Given the description of an element on the screen output the (x, y) to click on. 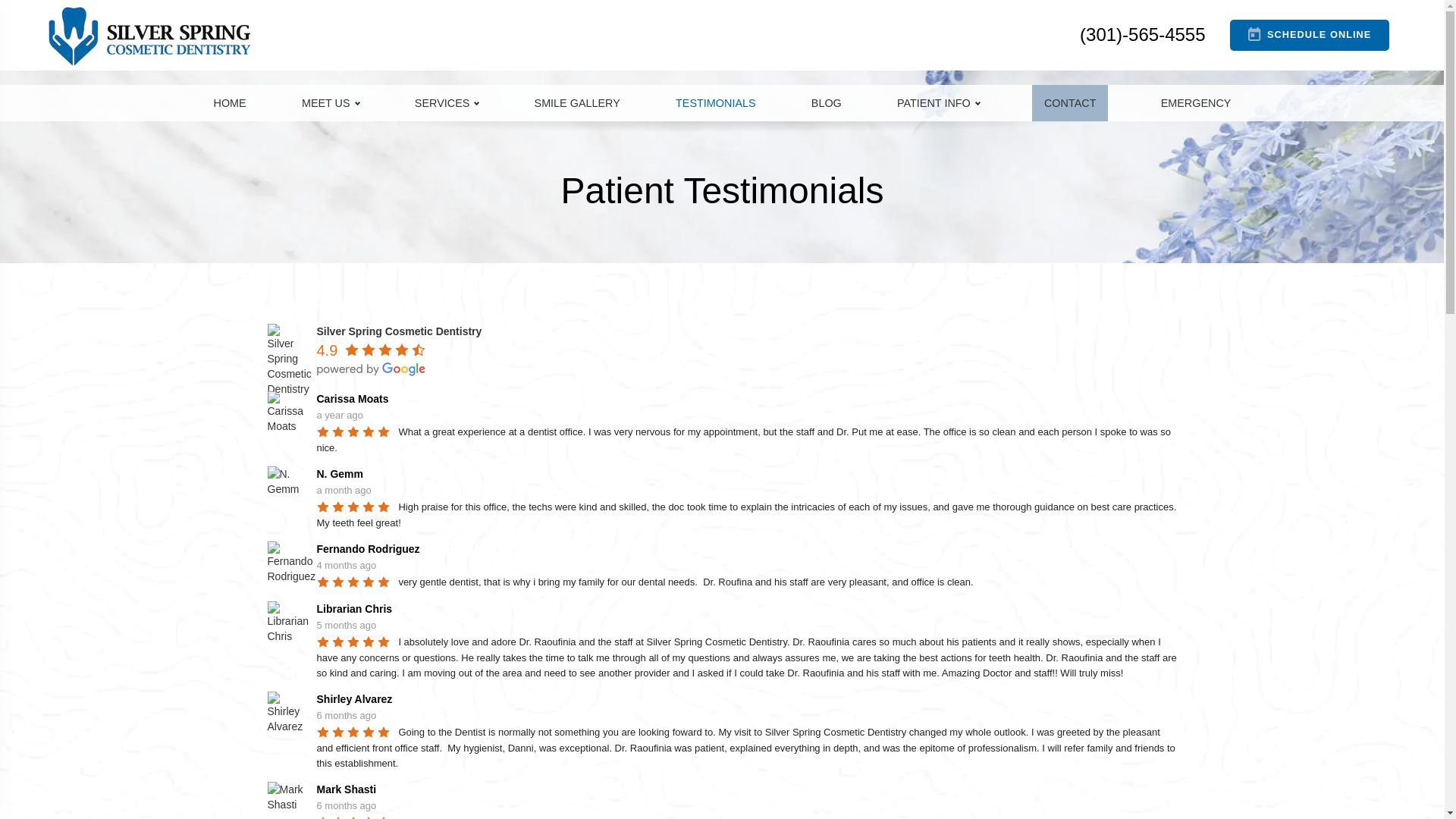
HOME (229, 103)
MEET US (330, 103)
CALENDARSCHEDULE ONLINE (1309, 34)
SERVICES (446, 103)
